Given the description of an element on the screen output the (x, y) to click on. 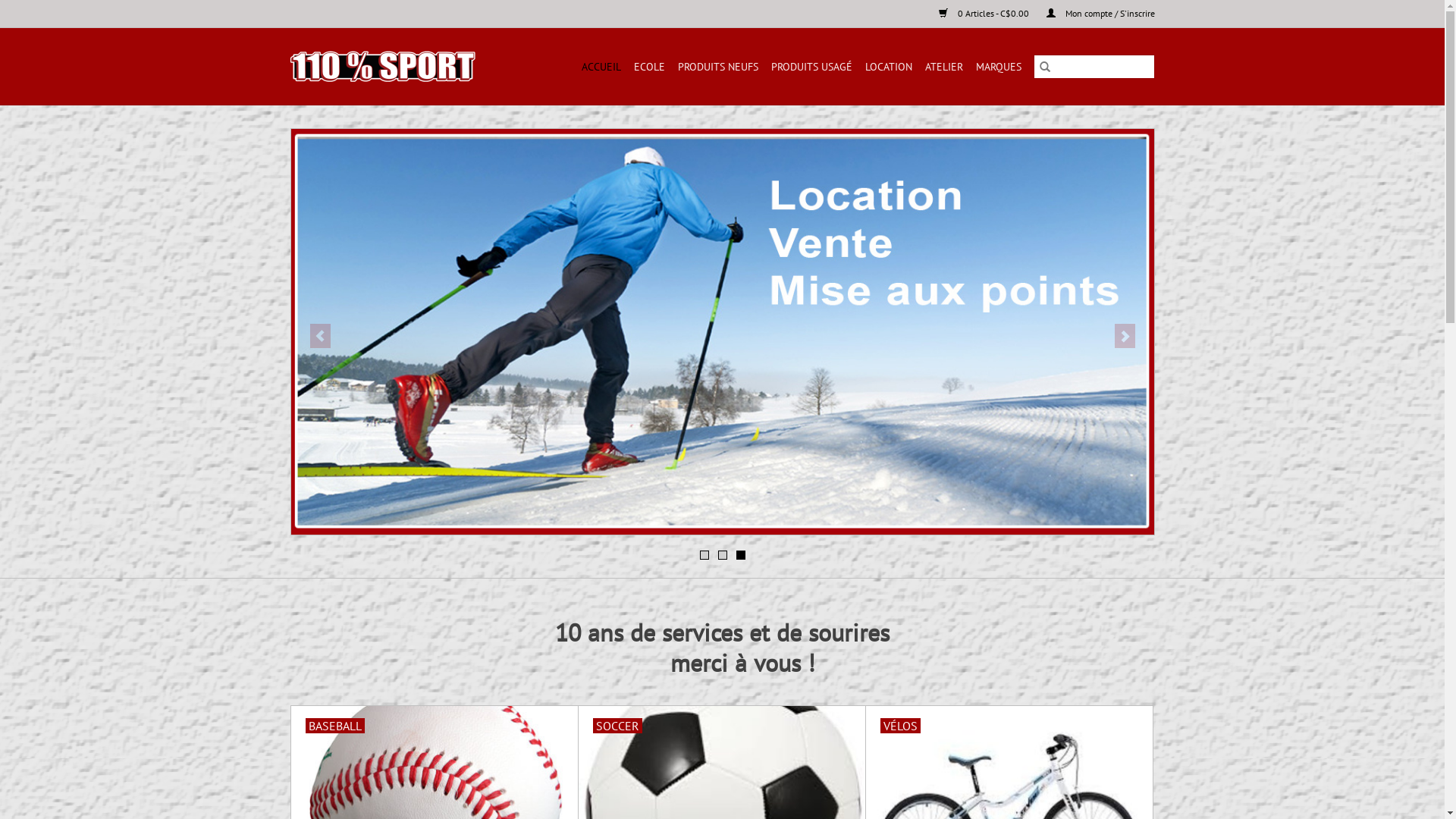
3 Element type: text (739, 554)
1 Element type: text (703, 554)
0 Articles - C$0.00 Element type: text (977, 12)
ACCUEIL Element type: text (600, 66)
MARQUES Element type: text (997, 66)
PRODUITS NEUFS Element type: text (717, 66)
110  % SPORT  Element type: hover (394, 65)
Page suivante Element type: hover (1124, 335)
Mon compte / S'inscrire Element type: text (1092, 12)
LOCATION Element type: text (887, 66)
ATELIER Element type: text (943, 66)
ECOLE Element type: text (649, 66)
2 Element type: text (721, 554)
Rechercher Element type: hover (1043, 66)
